Given the description of an element on the screen output the (x, y) to click on. 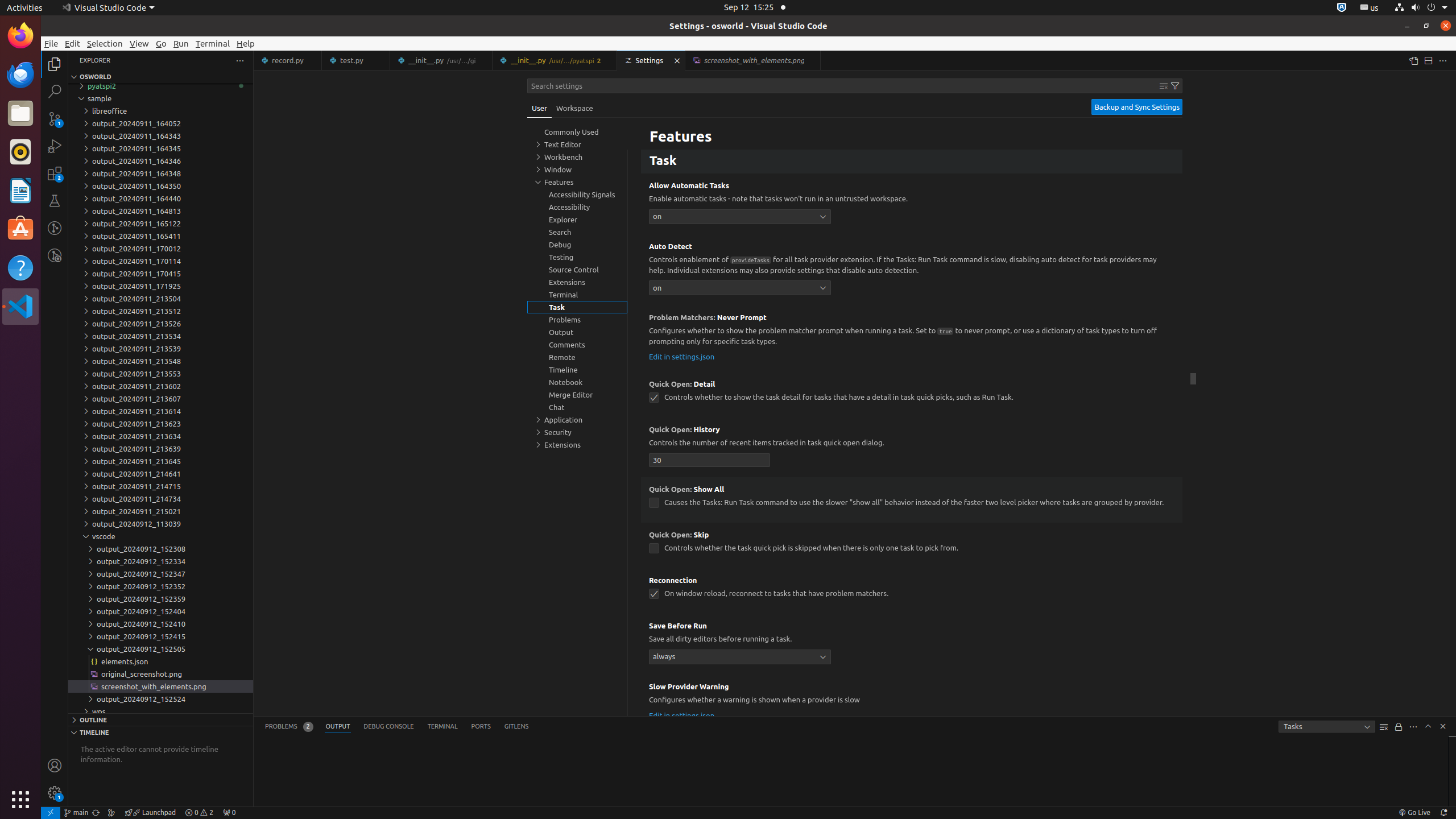
Quick Open Show All. Causes the Tasks: Run Task command to use the slower "show all" behavior instead of the faster two level picker where tasks are grouped by provider.  Element type: tree-item (911, 499)
output_20240912_152415 Element type: tree-item (160, 636)
Edit in settings.json: task.slowProviderWarning Element type: push-button (681, 714)
output_20240911_213553 Element type: tree-item (160, 373)
Problem Matchers Never Prompt. Configures whether to show the problem matcher prompt when running a task. Set to true to never prompt, or use a dictionary of task types to turn off prompting only for specific task types.  Element type: tree-item (911, 338)
